Given the description of an element on the screen output the (x, y) to click on. 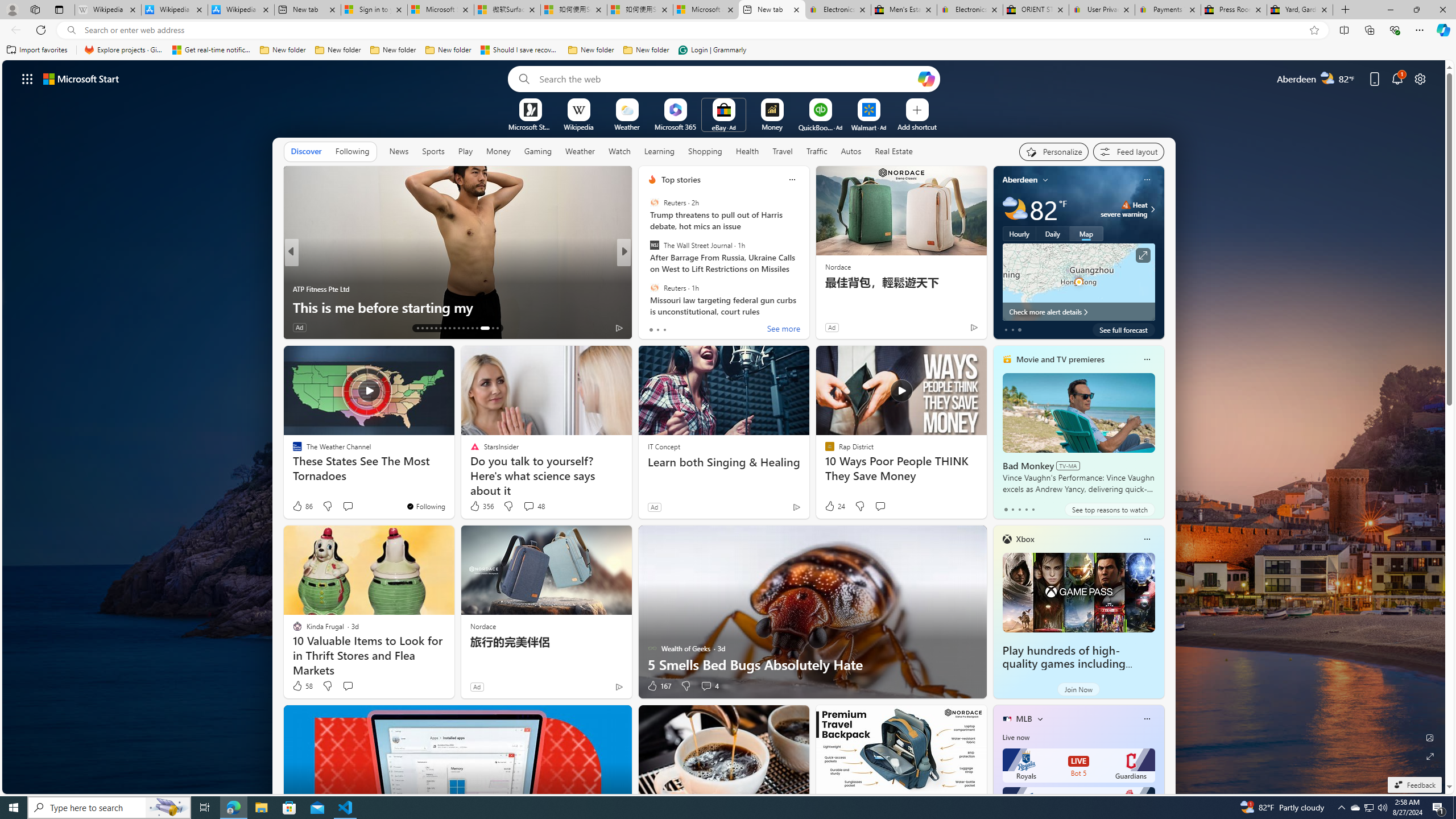
tab-4 (1032, 509)
AutomationID: tab-17 (435, 328)
AutomationID: tab-22 (458, 328)
Class: weather-arrow-glyph (1152, 208)
Add a site (916, 126)
